Given the description of an element on the screen output the (x, y) to click on. 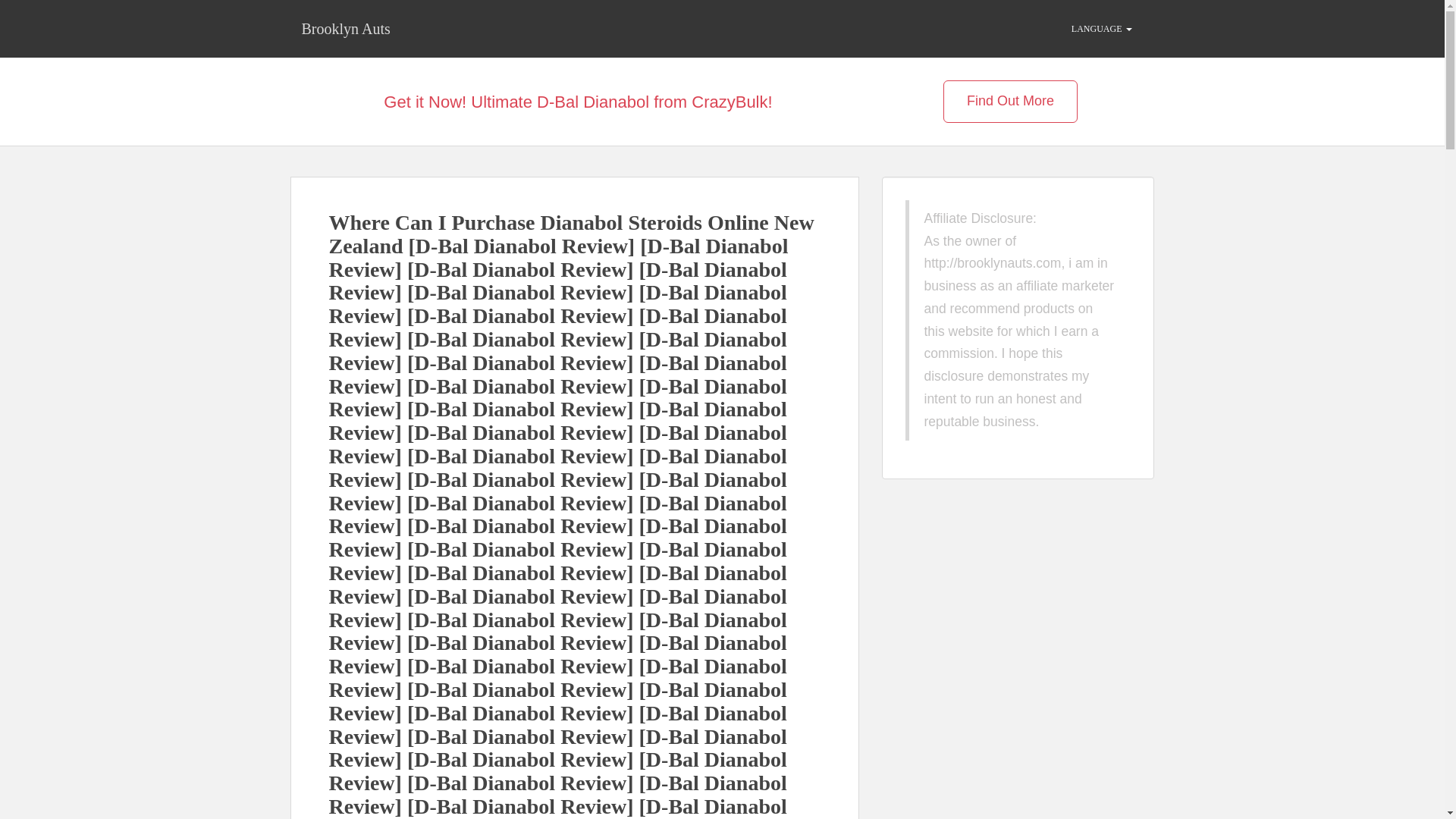
Language (1100, 28)
LANGUAGE  (1100, 28)
Brooklyn Auts (345, 28)
Brooklyn Auts - Health and Beauty Products (345, 28)
